Given the description of an element on the screen output the (x, y) to click on. 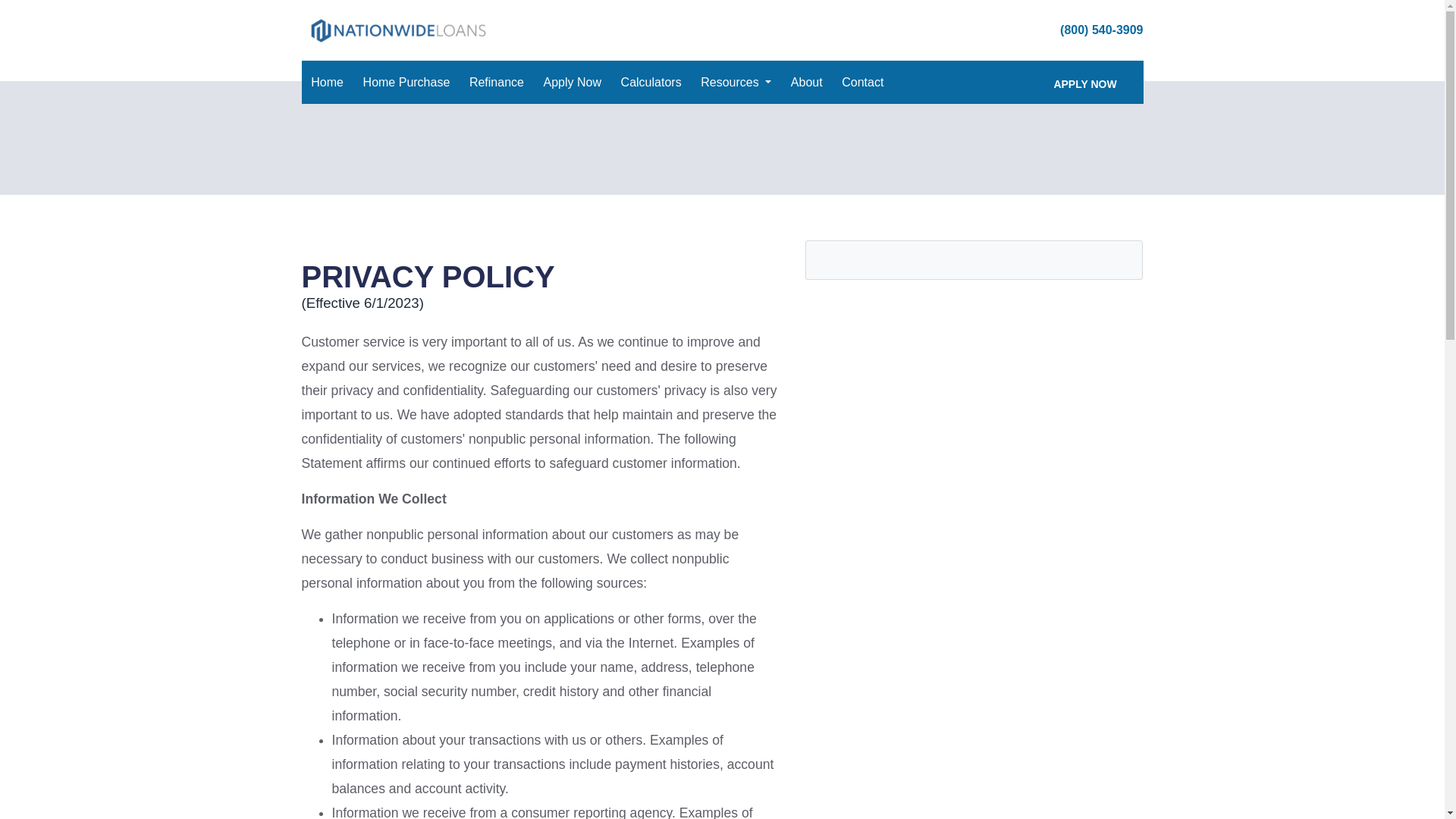
APPLY NOW (1084, 82)
Resources (735, 82)
Calculators (650, 82)
Apply Now (572, 82)
Home Purchase (406, 82)
Refinance (496, 82)
About (806, 82)
Contact (862, 82)
Home (326, 82)
